Given the description of an element on the screen output the (x, y) to click on. 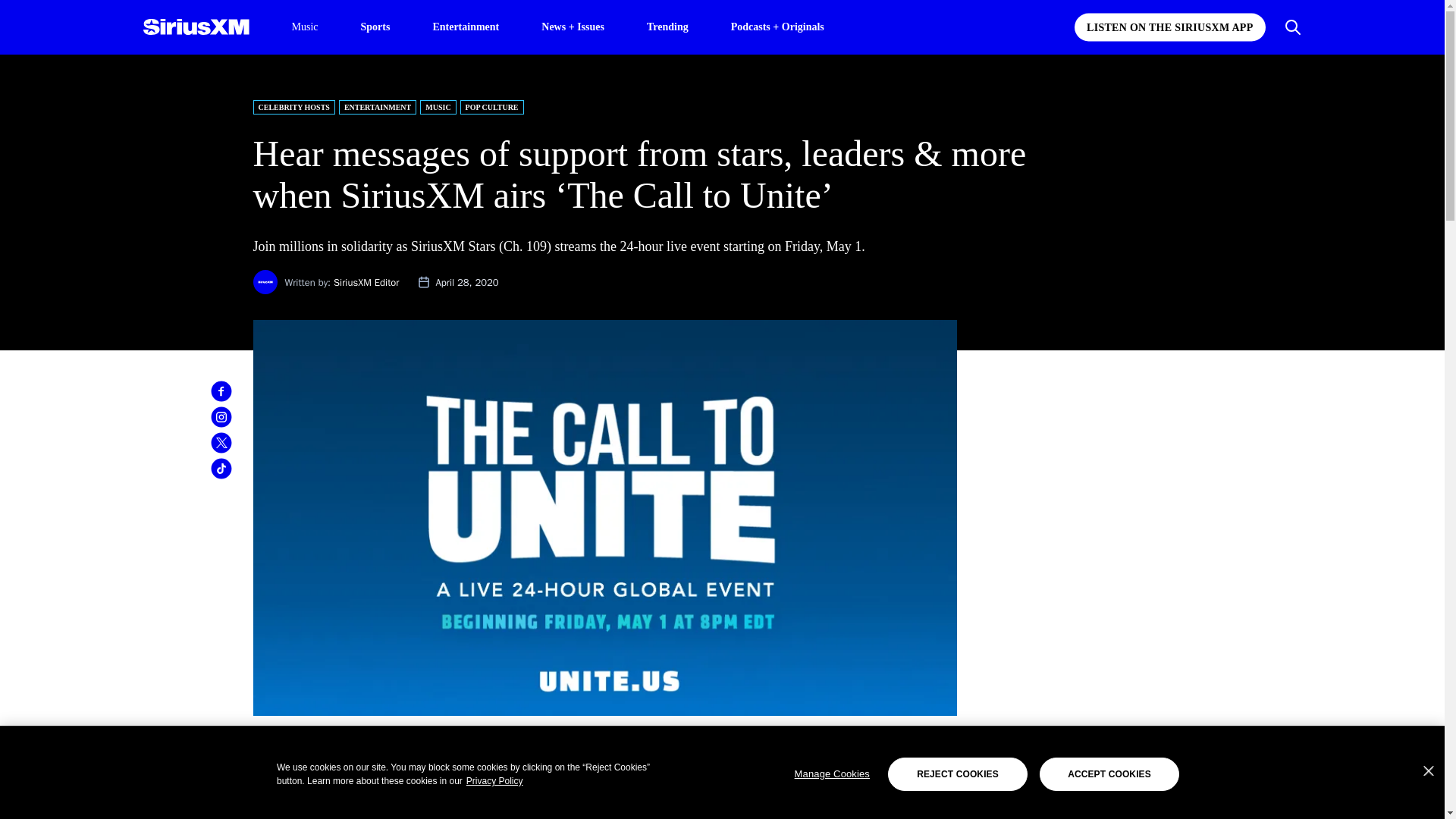
SiriusXM Editor (365, 282)
ENTERTAINMENT (377, 106)
Sports (375, 26)
Music (304, 26)
CELEBRITY HOSTS (293, 106)
Entertainment (465, 26)
POP CULTURE (492, 106)
Page 1 (605, 780)
MUSIC (437, 106)
Trending (667, 26)
LISTEN ON THE SIRIUSXM APP (1169, 27)
